Given the description of an element on the screen output the (x, y) to click on. 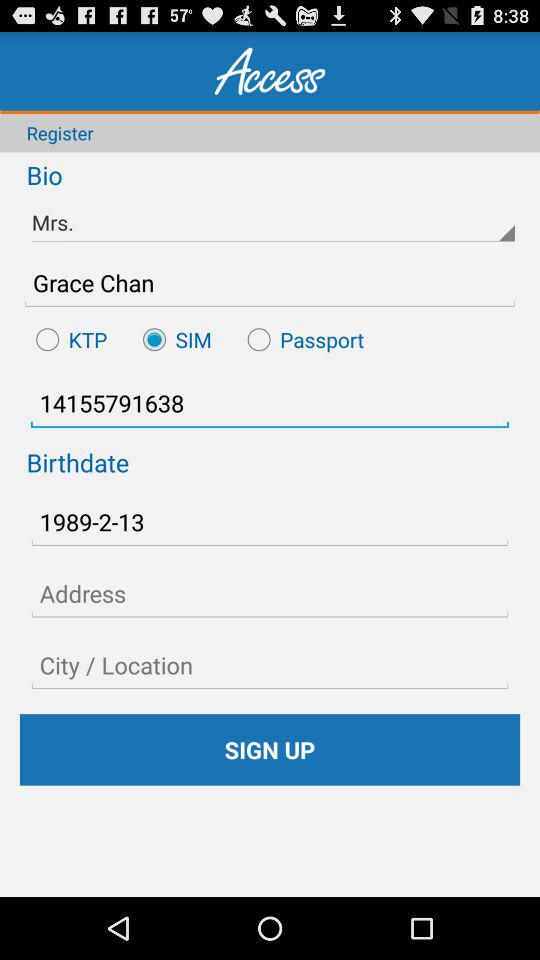
enter location (269, 665)
